Given the description of an element on the screen output the (x, y) to click on. 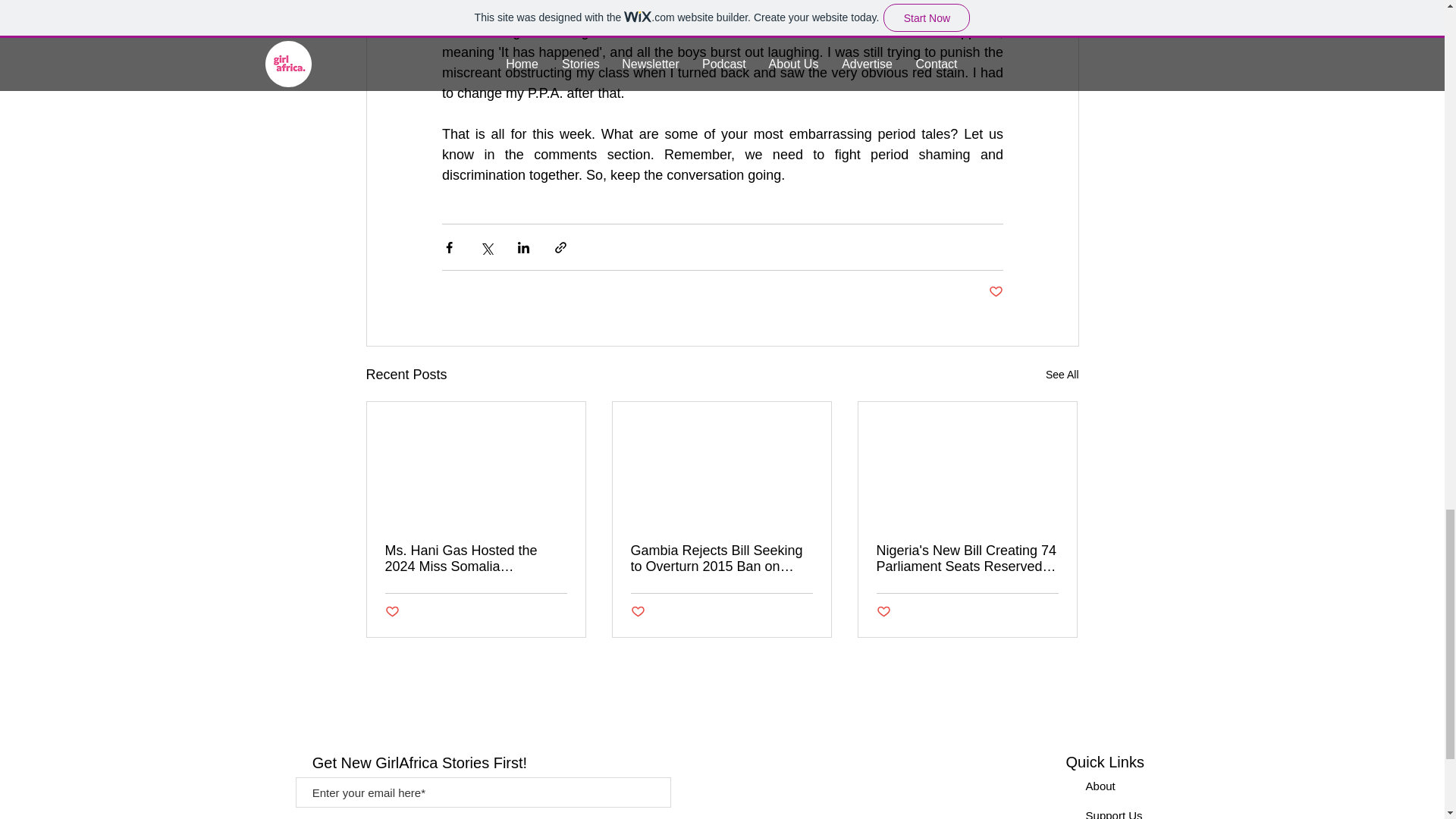
Post not marked as liked (995, 292)
See All (1061, 374)
About (1100, 785)
Support Us (1114, 814)
Post not marked as liked (883, 611)
Post not marked as liked (637, 611)
Post not marked as liked (391, 611)
